Given the description of an element on the screen output the (x, y) to click on. 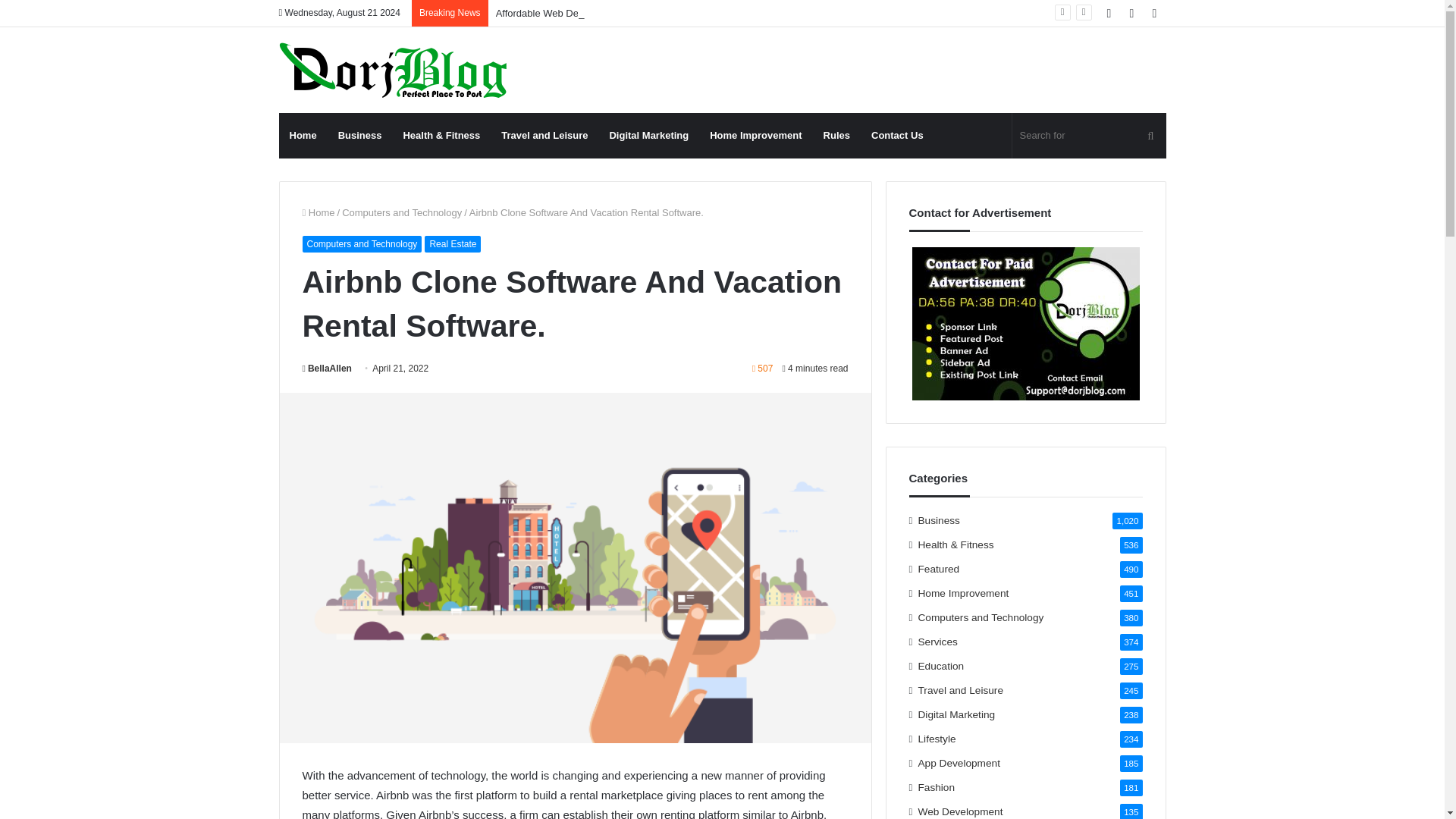
Business (360, 135)
Home (303, 135)
BellaAllen (325, 368)
Contact Us (897, 135)
Affordable Web Design with LowCostWebDesigns (605, 12)
Computers and Technology (361, 243)
Home (317, 212)
Dorj Blog (392, 69)
Travel and Leisure (544, 135)
Rules (836, 135)
